Given the description of an element on the screen output the (x, y) to click on. 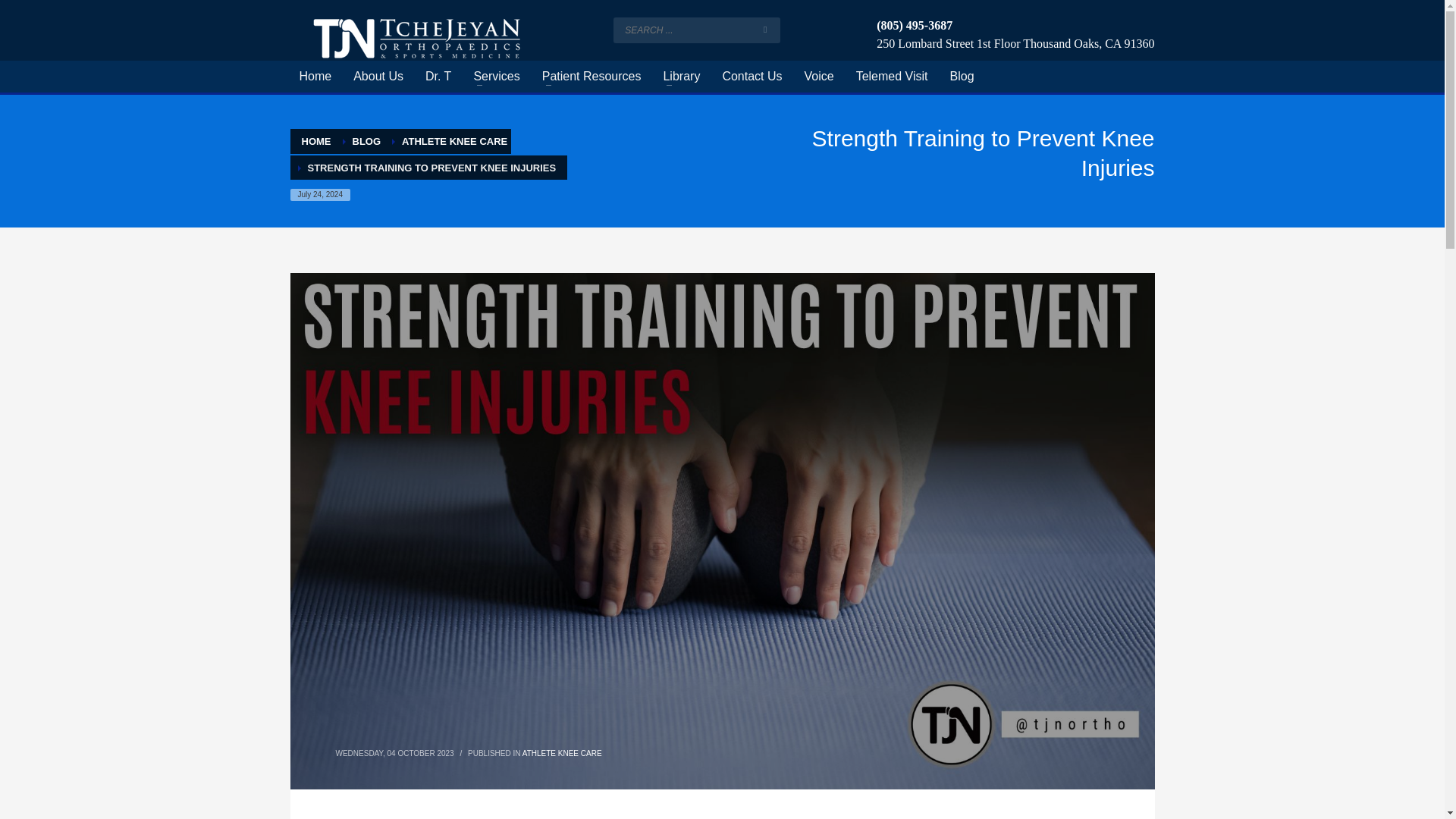
Voice (818, 76)
Dr. T (438, 76)
Blog (366, 141)
Telemed Visit (892, 76)
Home (314, 76)
Blog (962, 76)
Contact Us (751, 76)
Services (496, 76)
go (765, 29)
Library (681, 76)
Patient Resources (591, 76)
About Us (377, 76)
